Given the description of an element on the screen output the (x, y) to click on. 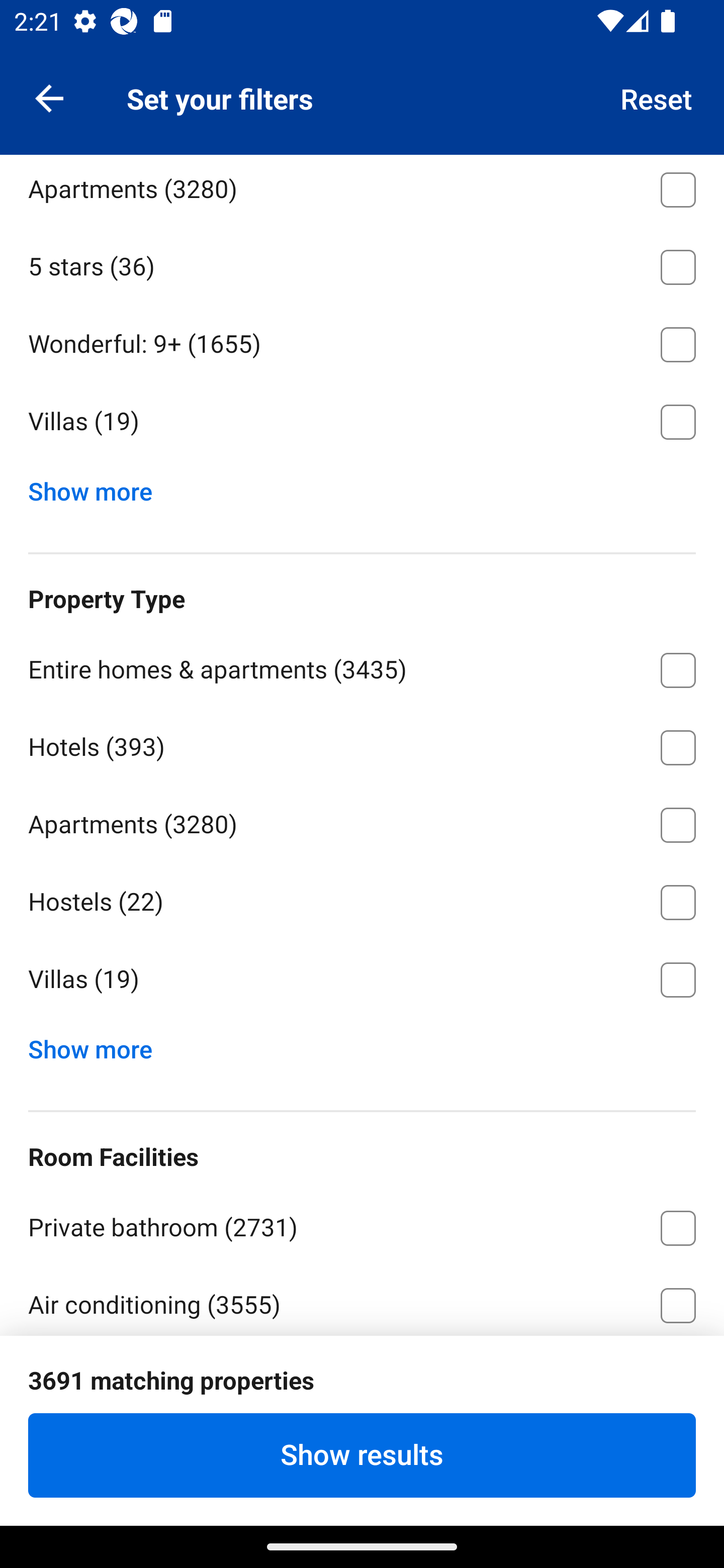
Navigate up (49, 97)
Reset (656, 97)
Hotels ⁦(393) (361, 108)
Apartments ⁦(3280) (361, 190)
5 stars ⁦(36) (361, 263)
Wonderful: 9+ ⁦(1655) (361, 340)
Villas ⁦(19) (361, 421)
Show more (97, 486)
Entire homes & apartments ⁦(3435) (361, 666)
Hotels ⁦(393) (361, 743)
Apartments ⁦(3280) (361, 821)
Hostels ⁦(22) (361, 898)
Villas ⁦(19) (361, 979)
Show more (97, 1044)
Private bathroom ⁦(2731) (361, 1224)
Air conditioning ⁦(3555) (361, 1299)
Sea view ⁦(87) (361, 1378)
Balcony ⁦(2522) (361, 1456)
